Given the description of an element on the screen output the (x, y) to click on. 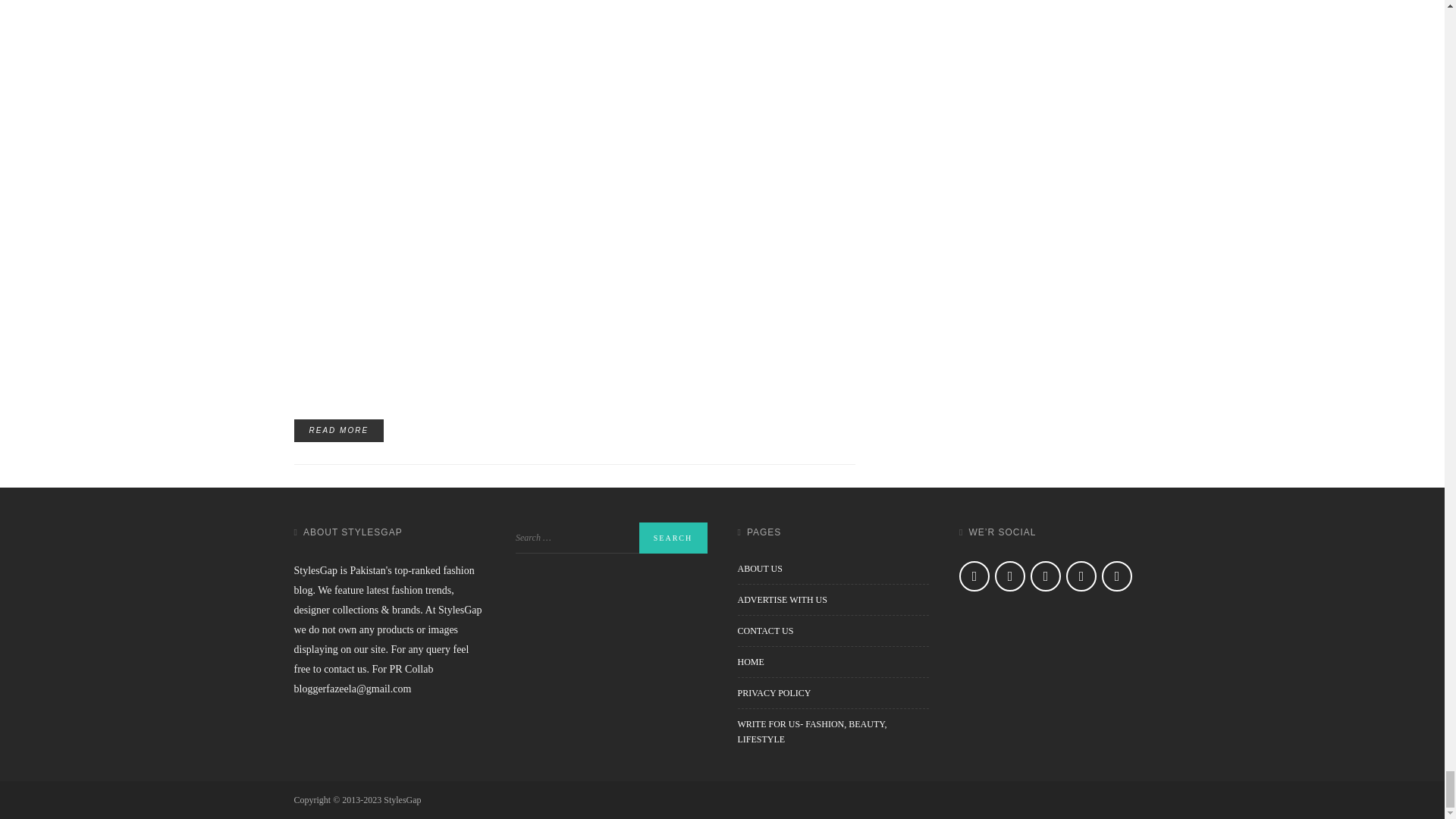
Search (672, 537)
Search (672, 537)
